Given the description of an element on the screen output the (x, y) to click on. 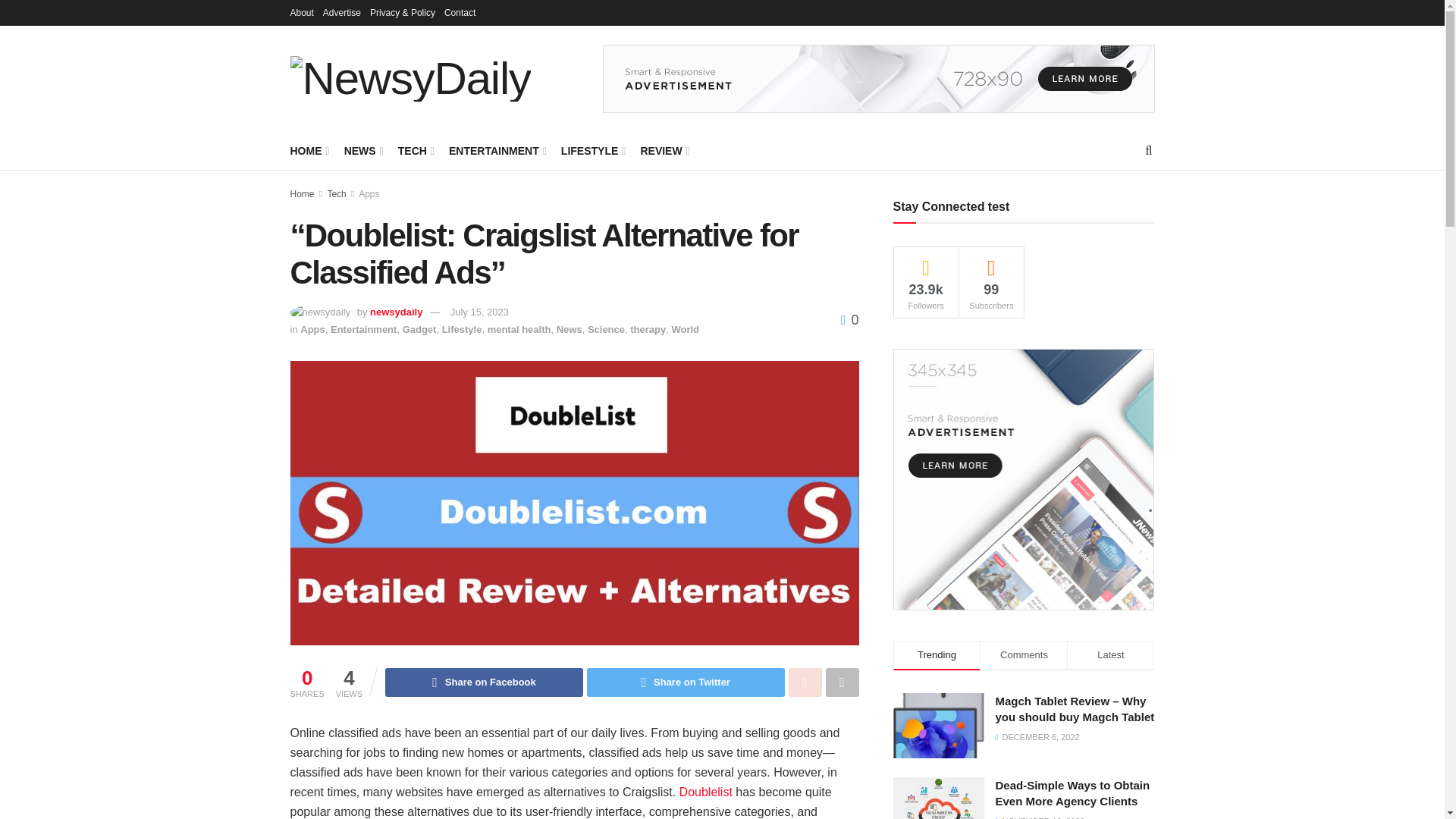
Advertise (342, 12)
NEWS (362, 150)
About (301, 12)
Contact (460, 12)
TECH (414, 150)
HOME (307, 150)
